Given the description of an element on the screen output the (x, y) to click on. 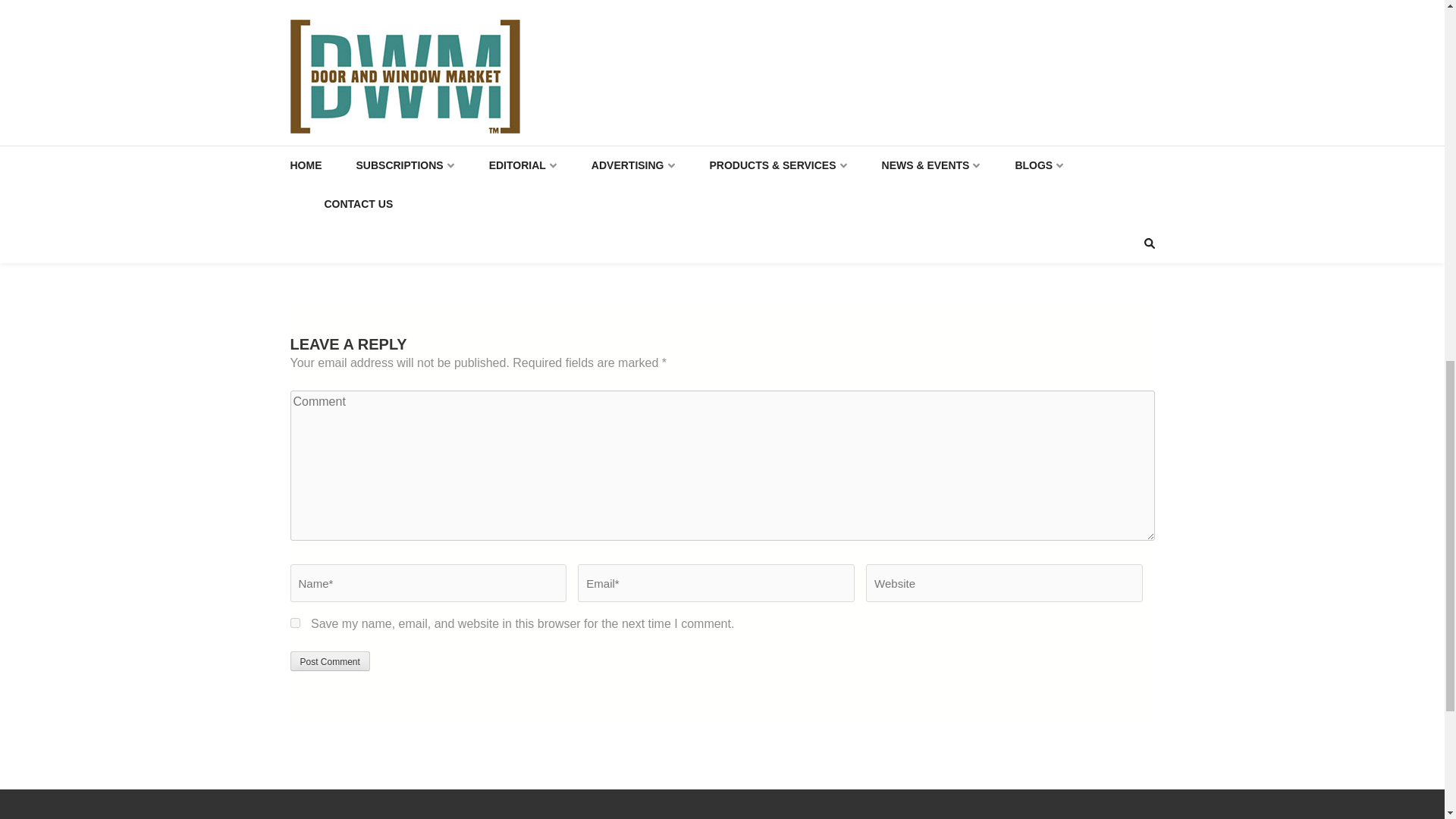
yes (294, 623)
Post Comment (329, 660)
